Given the description of an element on the screen output the (x, y) to click on. 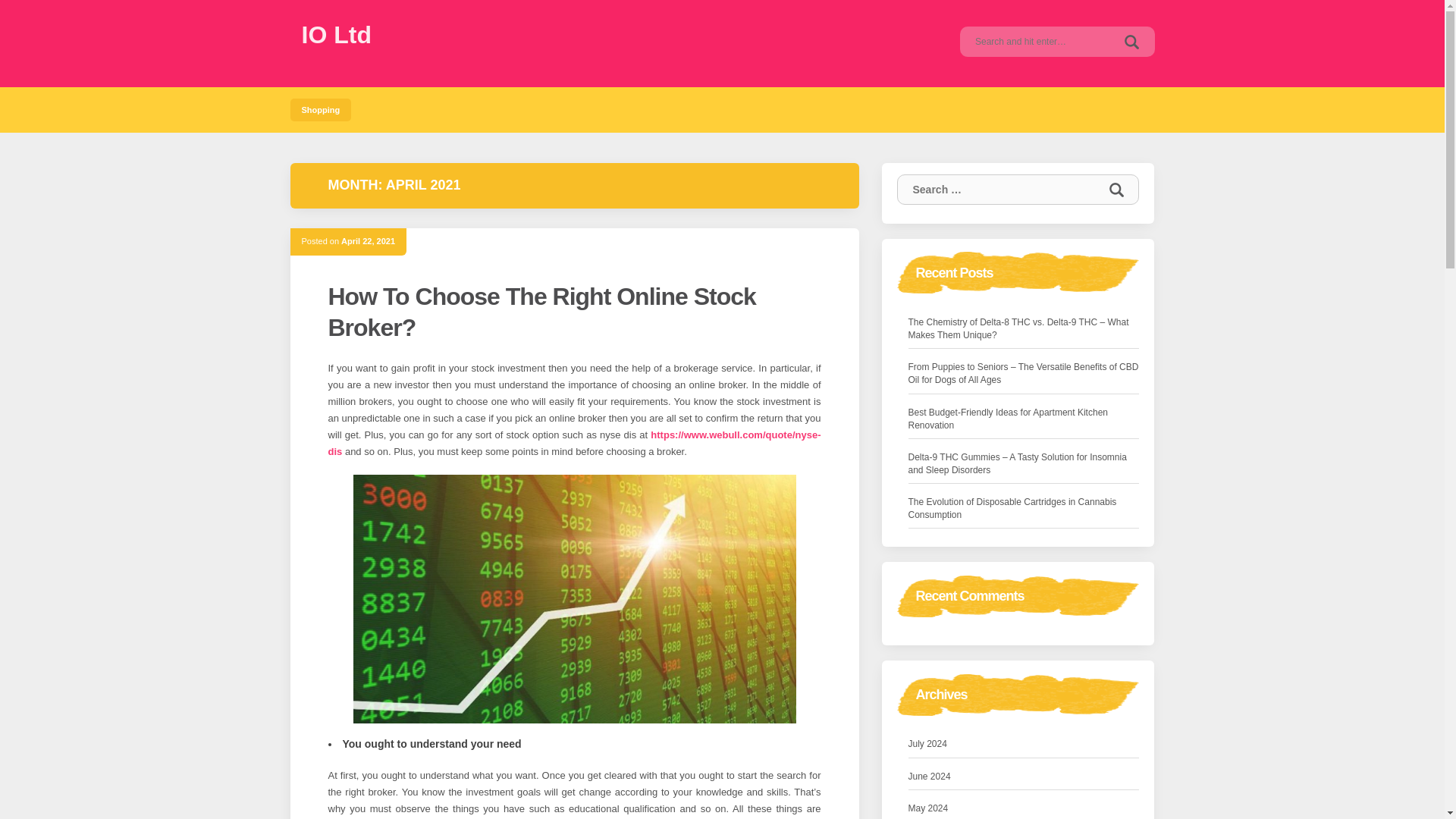
June 2024 (929, 776)
Search (1131, 41)
Search (1115, 189)
IO Ltd (336, 34)
How To Choose The Right Online Stock Broker? (541, 312)
Search (1115, 189)
Shopping (319, 109)
May 2024 (928, 808)
Search (1131, 41)
April 22, 2021 (367, 240)
Search (1115, 189)
Search (1131, 41)
Best Budget-Friendly Ideas for Apartment Kitchen Renovation (1024, 419)
Shopping (319, 109)
